Given the description of an element on the screen output the (x, y) to click on. 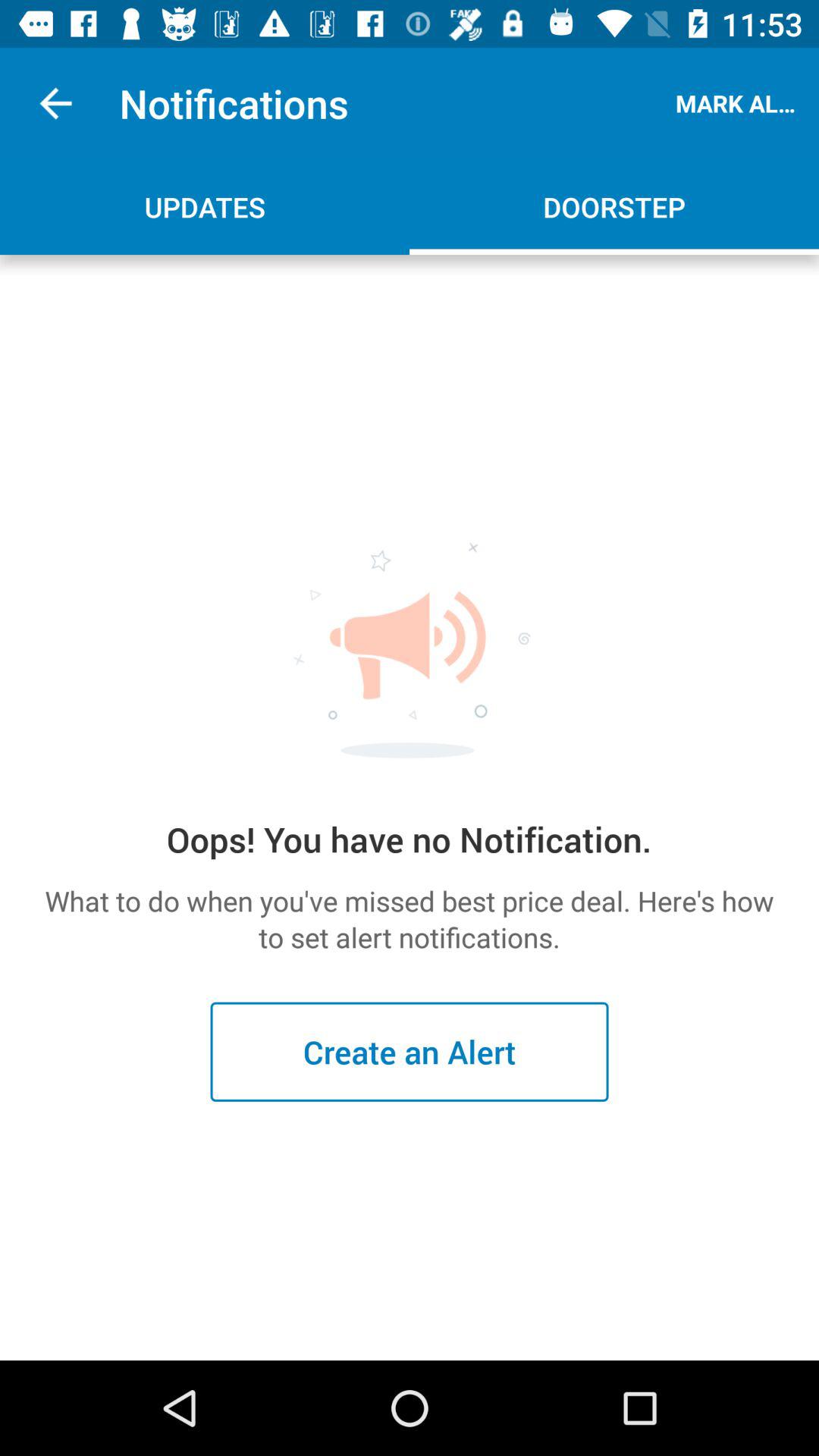
turn off the item next to the doorstep (204, 206)
